Given the description of an element on the screen output the (x, y) to click on. 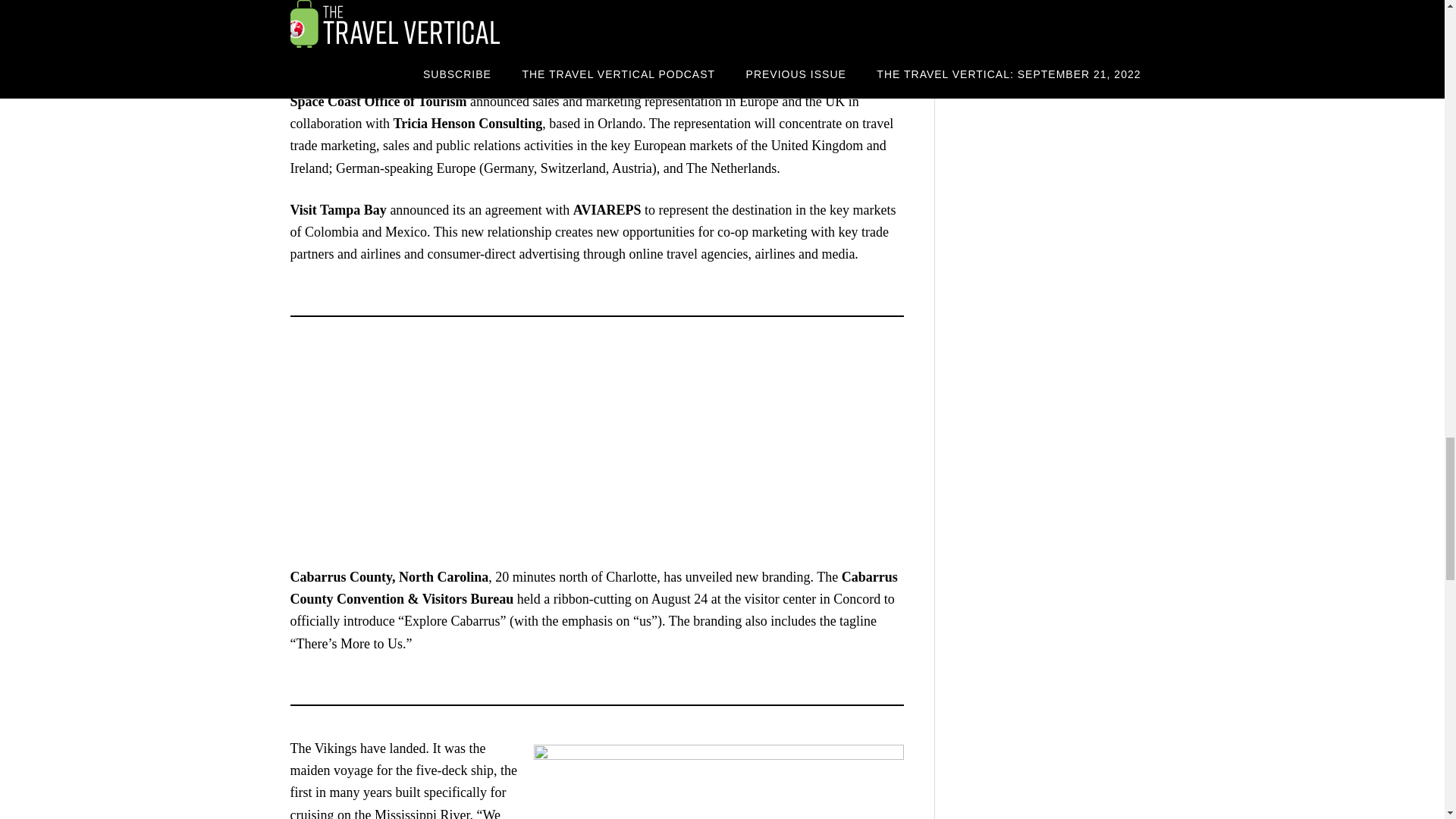
Explore Cabarrus County (478, 452)
